Given the description of an element on the screen output the (x, y) to click on. 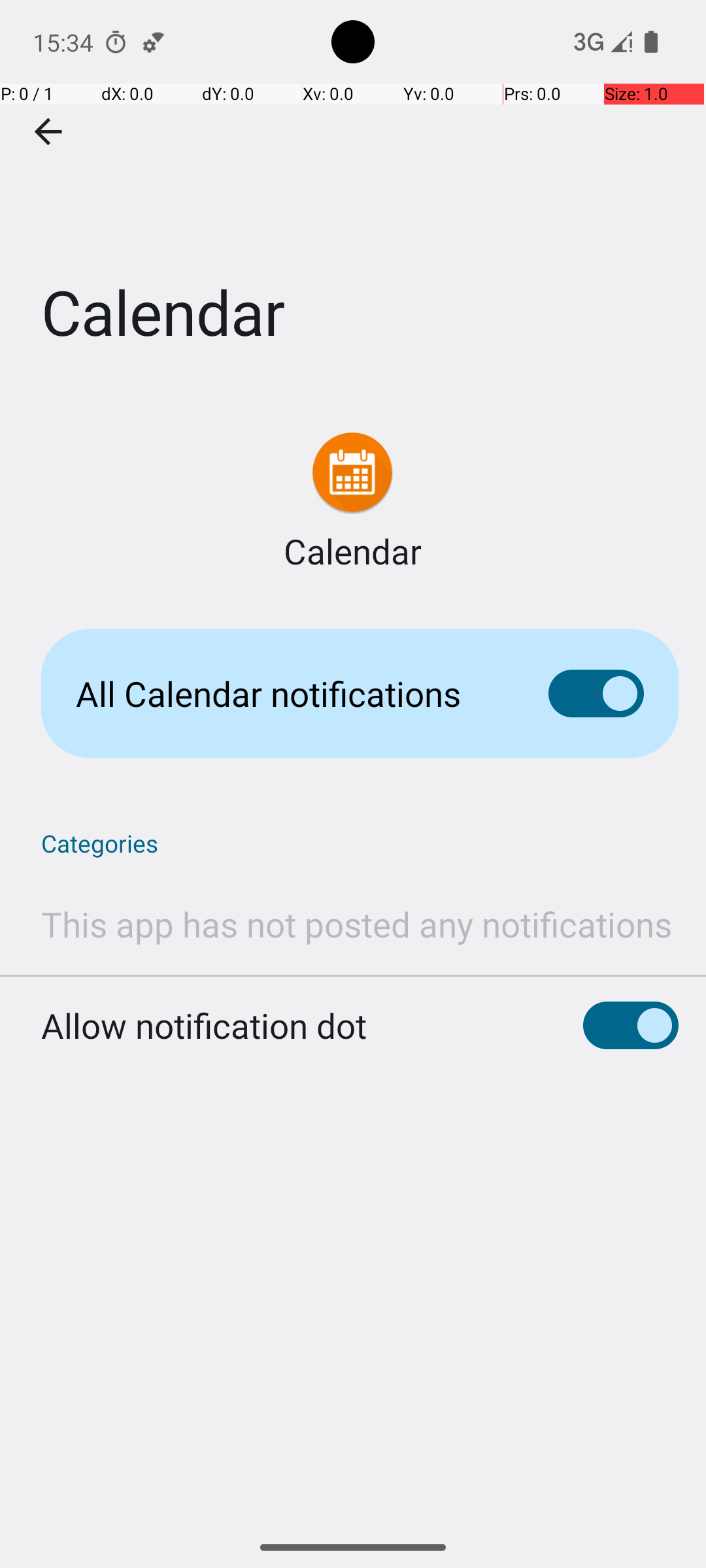
This app has not posted any notifications Element type: android.widget.TextView (356, 923)
